Given the description of an element on the screen output the (x, y) to click on. 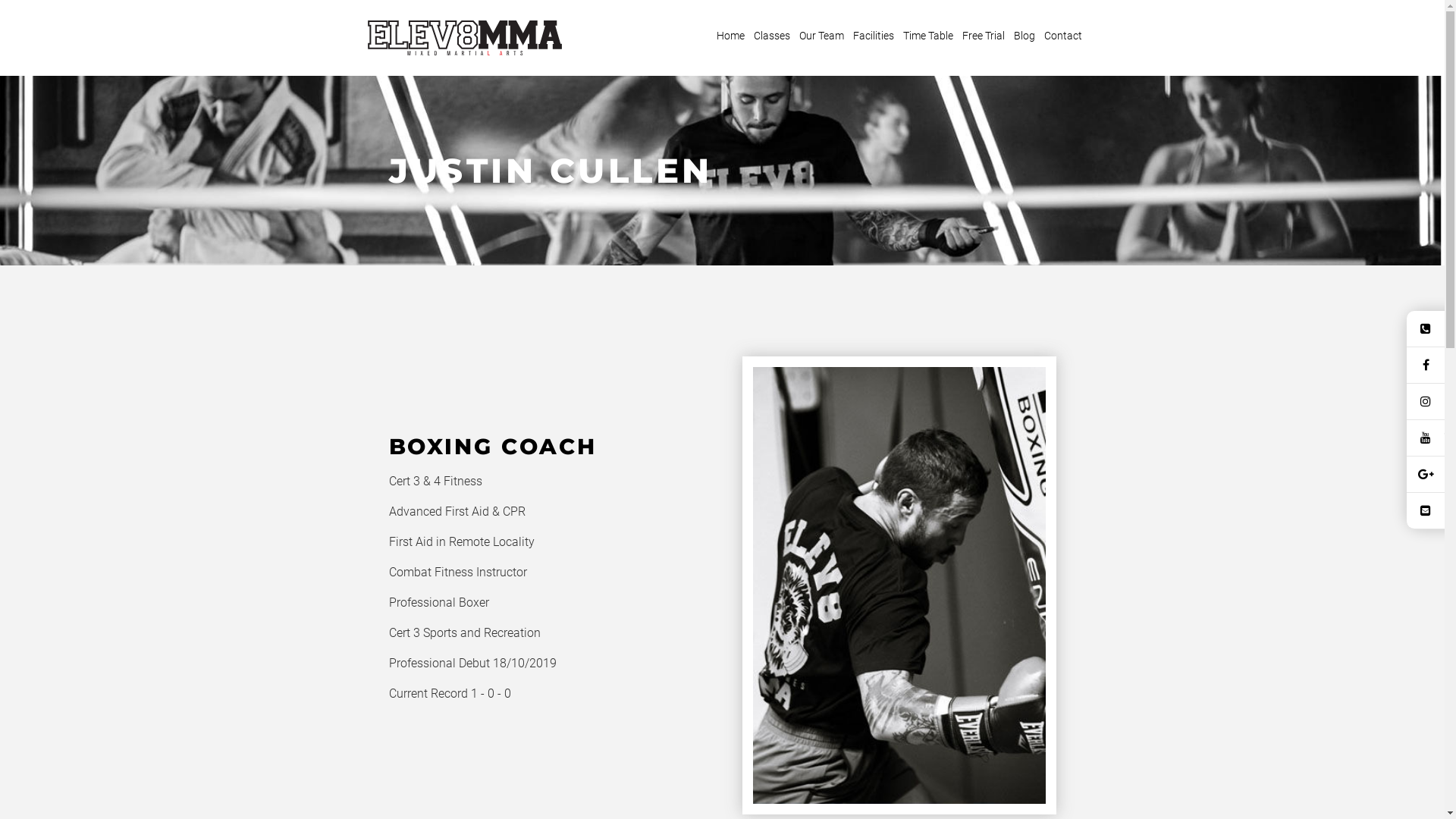
Facilities Element type: text (873, 35)
Our Team Element type: text (820, 35)
Classes Element type: text (771, 35)
Free Trial Element type: text (983, 35)
Blog Element type: text (1024, 35)
Contact Element type: text (1062, 35)
Home Element type: text (730, 35)
Time Table Element type: text (928, 35)
